Given the description of an element on the screen output the (x, y) to click on. 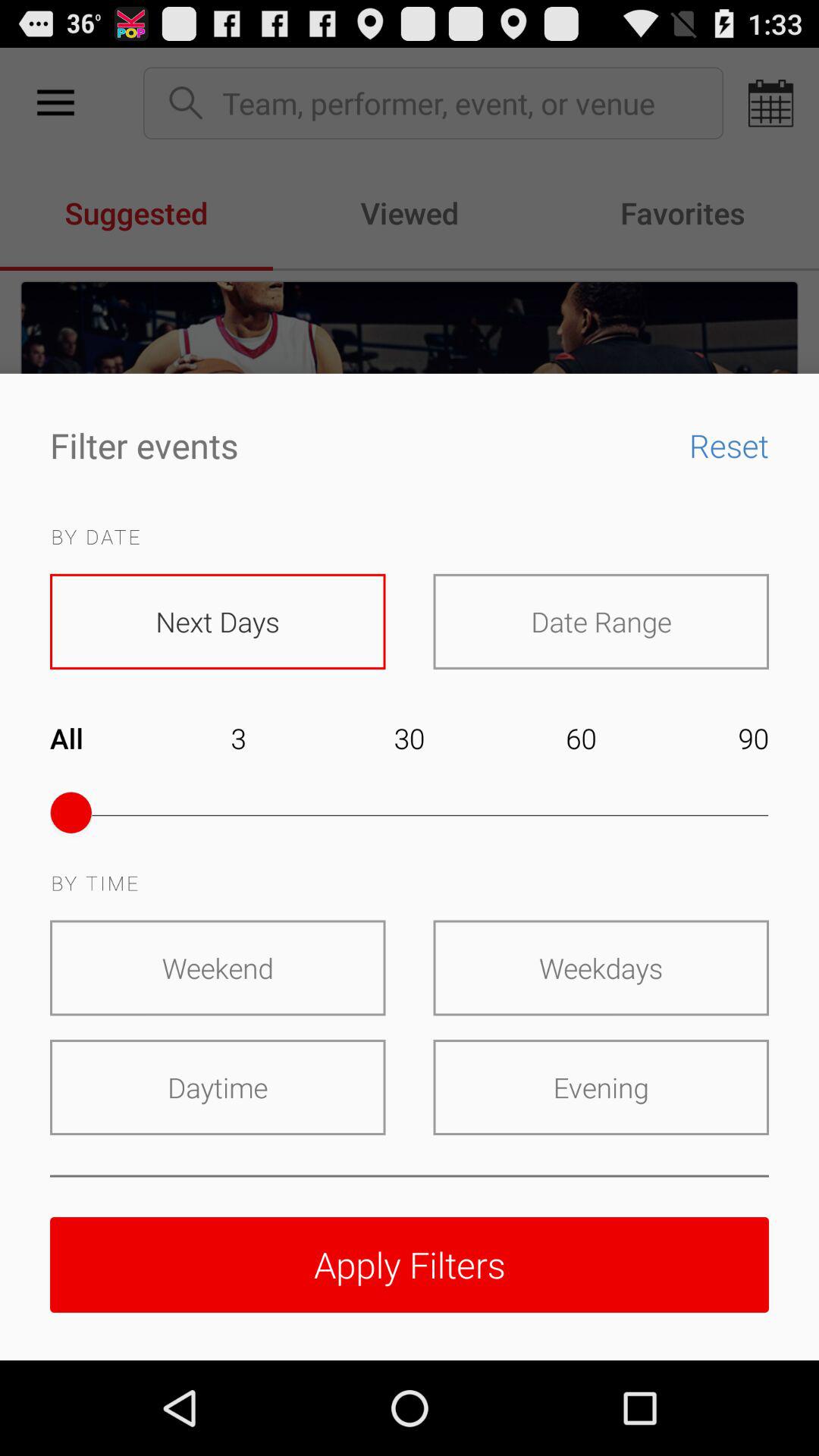
select item next to the 3 (81, 749)
